Given the description of an element on the screen output the (x, y) to click on. 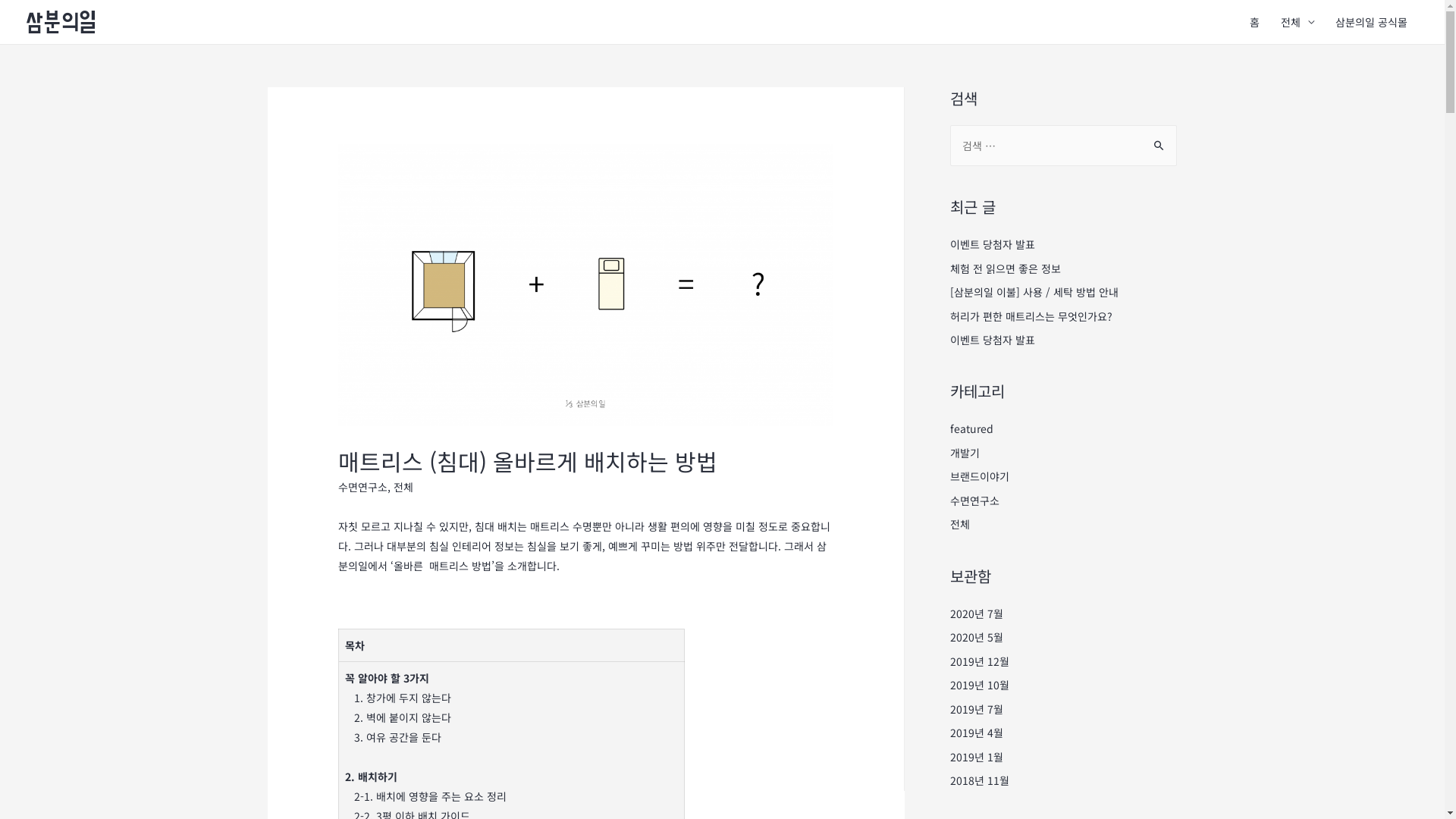
featured Element type: text (970, 428)
